Given the description of an element on the screen output the (x, y) to click on. 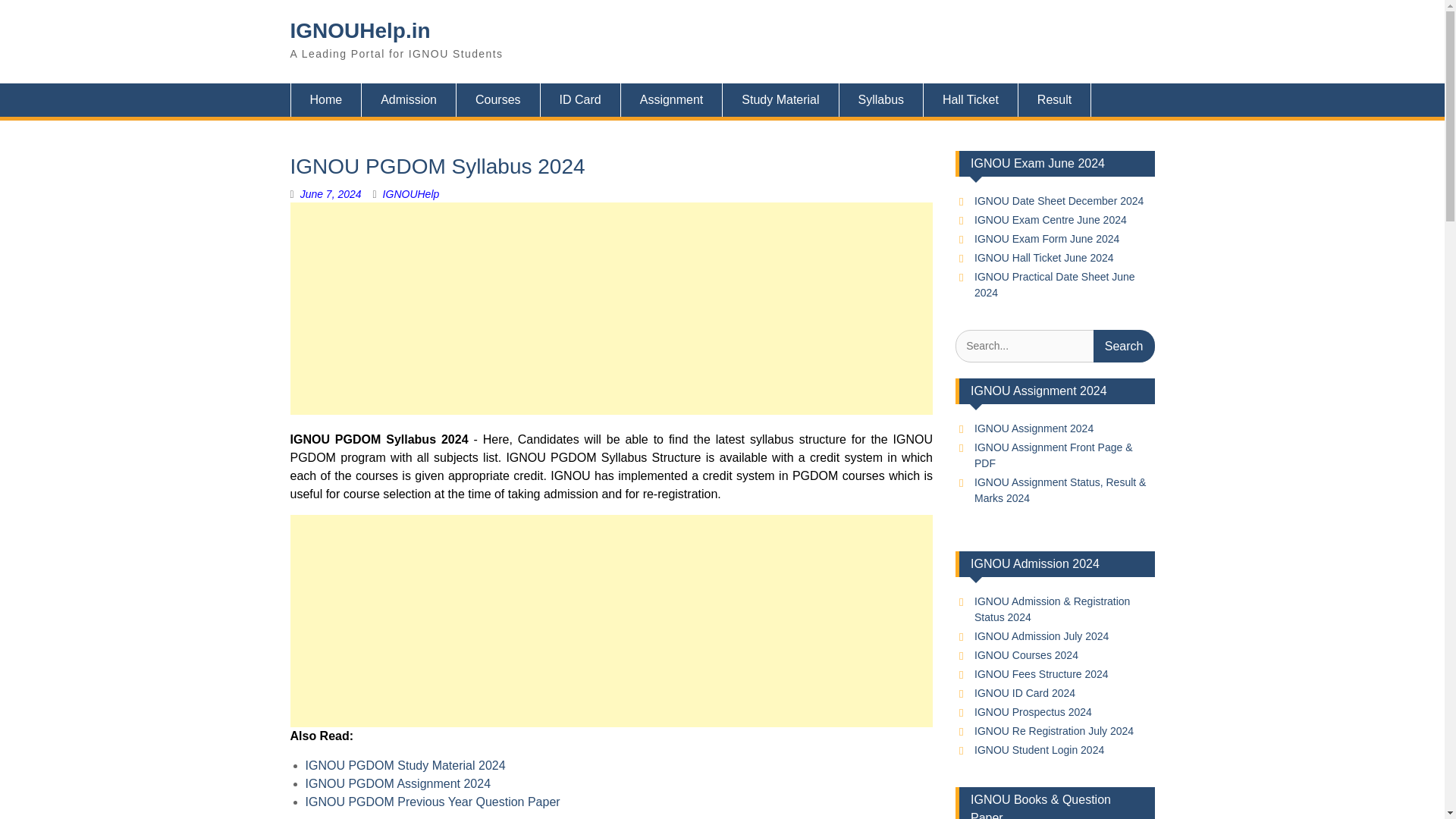
Syllabus (881, 100)
IGNOU PGDOM Previous Year Question Paper (431, 801)
IGNOU Date Sheet December 2024 (1058, 200)
IGNOU Exam Centre June 2024 (1050, 219)
IGNOU PGDOM Assignment 2024 (397, 783)
Assignment (672, 100)
Hall Ticket (970, 100)
Search (1123, 346)
Courses (498, 100)
June 7, 2024 (330, 193)
Home (325, 100)
Search (1123, 346)
IGNOU Exam Form June 2024 (1046, 238)
IGNOU Practical Date Sheet June 2024 (1054, 284)
IGNOU Assignment 2024 (1033, 428)
